Given the description of an element on the screen output the (x, y) to click on. 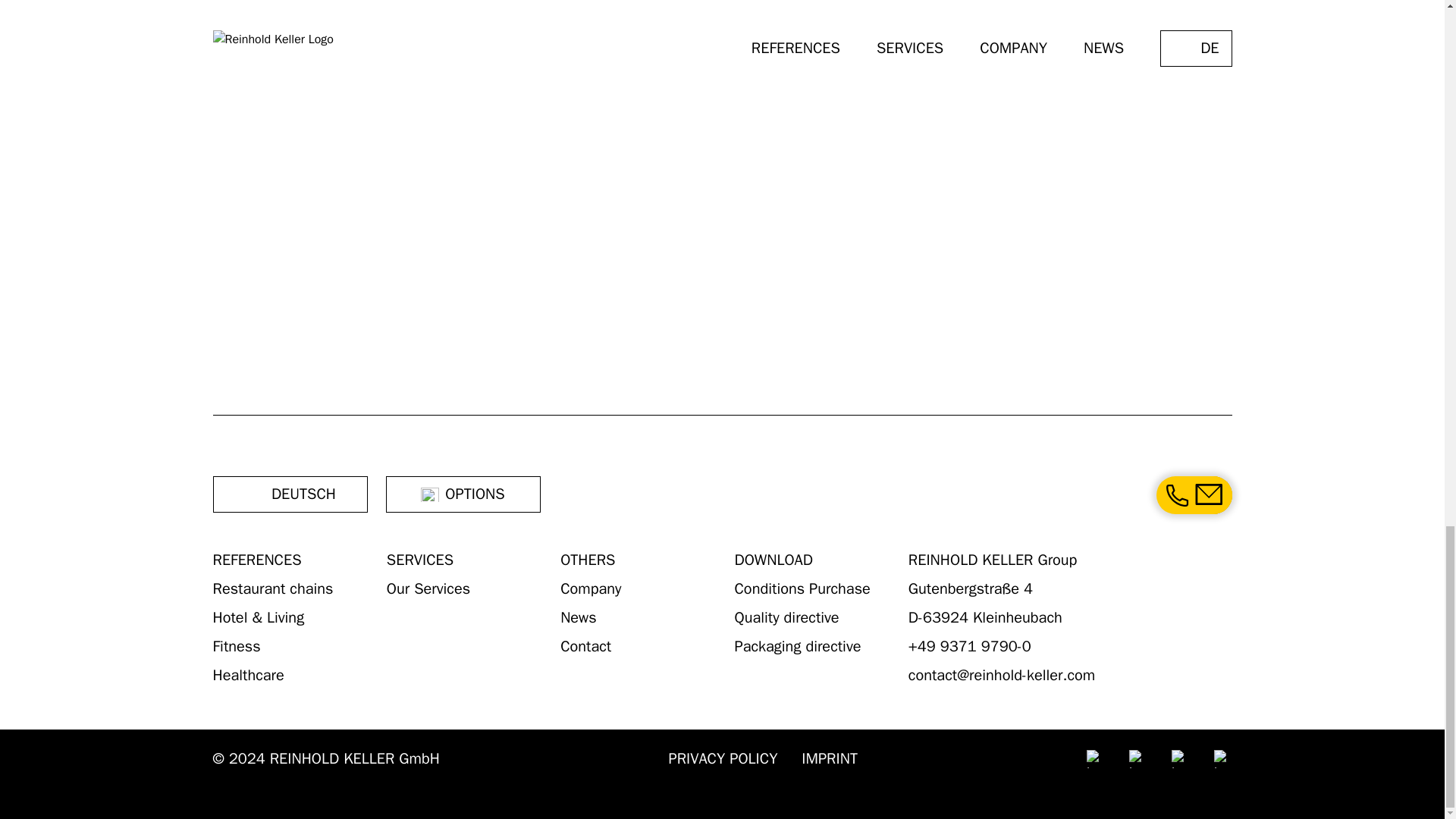
Company (590, 588)
Fitness (236, 646)
Our Services (428, 588)
News (578, 617)
Healthcare (247, 674)
DEUTSCH (289, 493)
Contact (585, 646)
Conditions Purchase (801, 588)
Packaging directive (796, 646)
OPTIONS (462, 493)
